Given the description of an element on the screen output the (x, y) to click on. 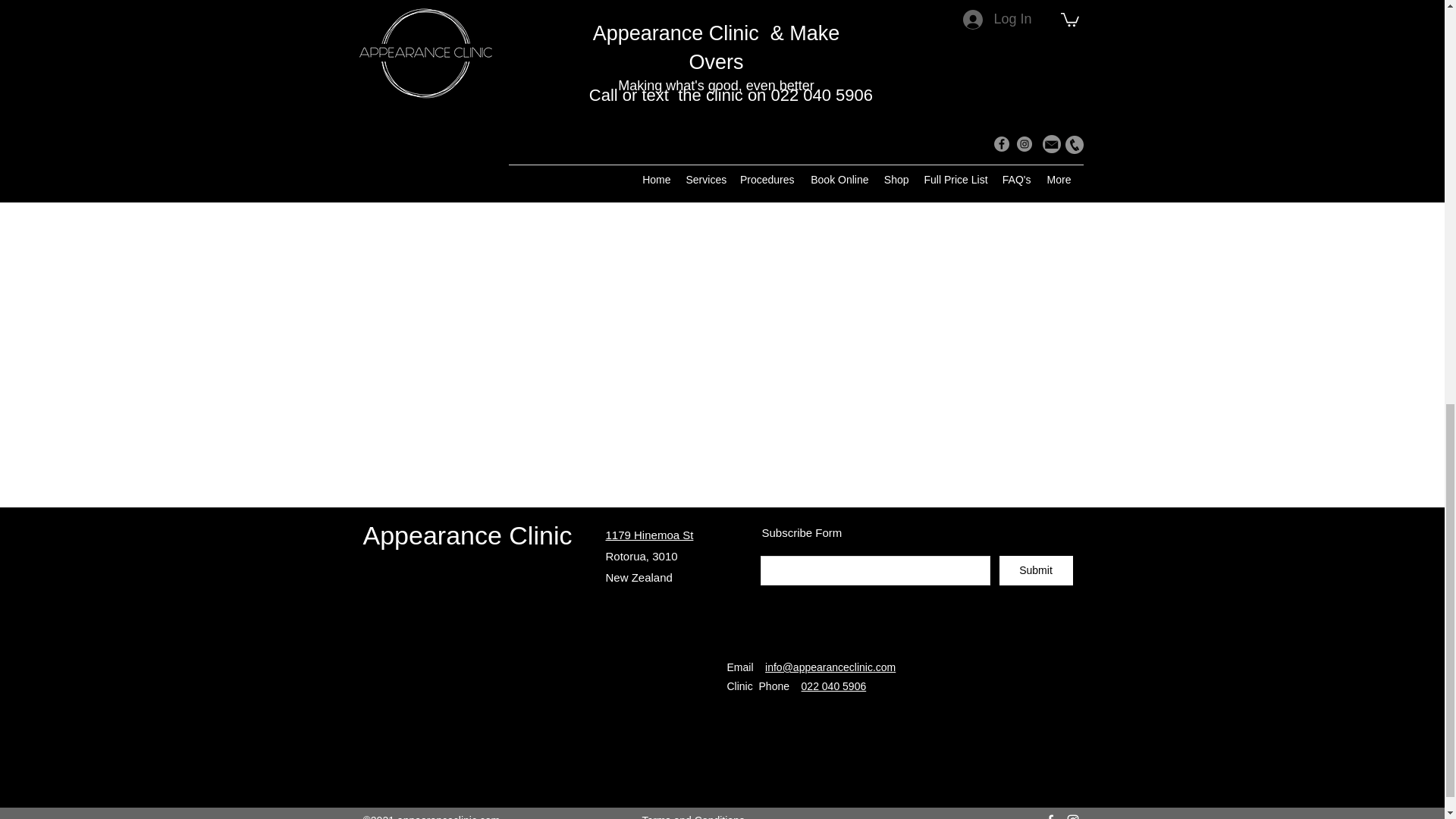
1179 Hinemoa St (649, 534)
Appearance Clinic (467, 534)
Submit (1035, 570)
